Given the description of an element on the screen output the (x, y) to click on. 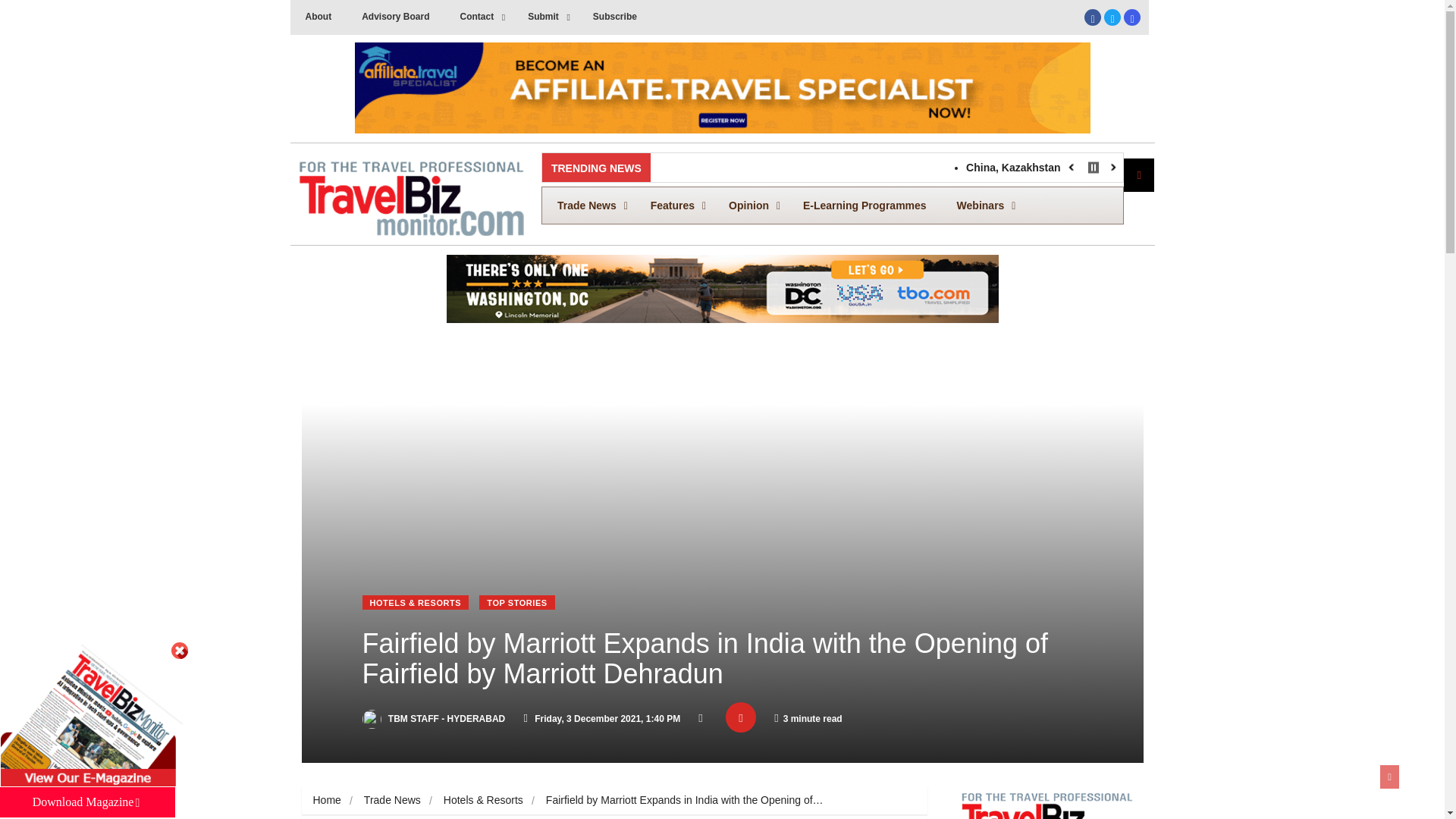
Trade News (587, 205)
Submit (832, 205)
Features (545, 17)
Subscribe (673, 205)
About (615, 17)
Advisory Board (317, 17)
Instagram (395, 17)
Twitter (1132, 17)
Contact (1112, 17)
